Given the description of an element on the screen output the (x, y) to click on. 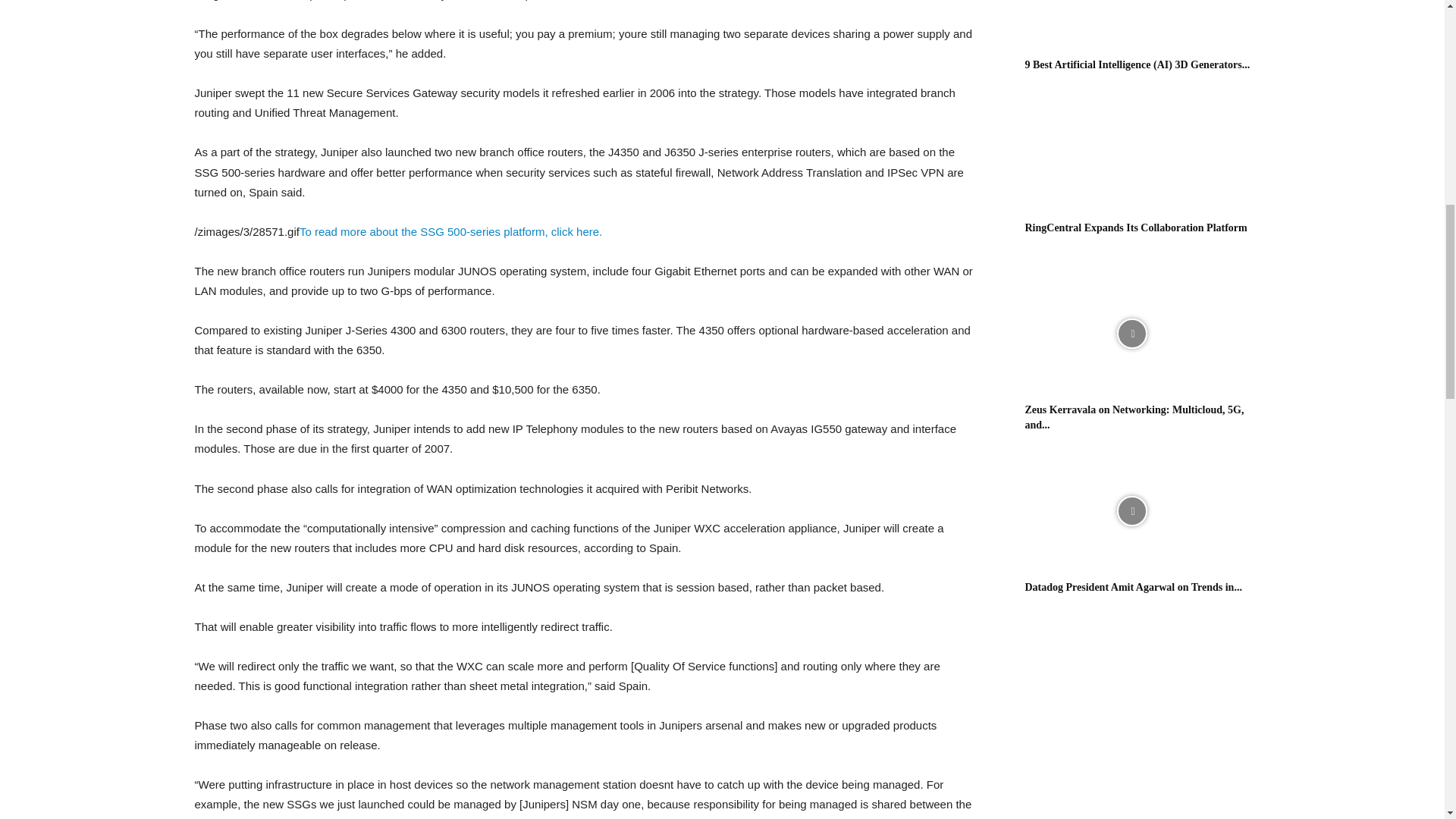
RingCentral Expands Its Collaboration Platform (1131, 151)
RingCentral Expands Its Collaboration Platform (1136, 227)
Zeus Kerravala on Networking: Multicloud, 5G, and Automation (1134, 417)
Zeus Kerravala on Networking: Multicloud, 5G, and Automation (1131, 333)
